Given the description of an element on the screen output the (x, y) to click on. 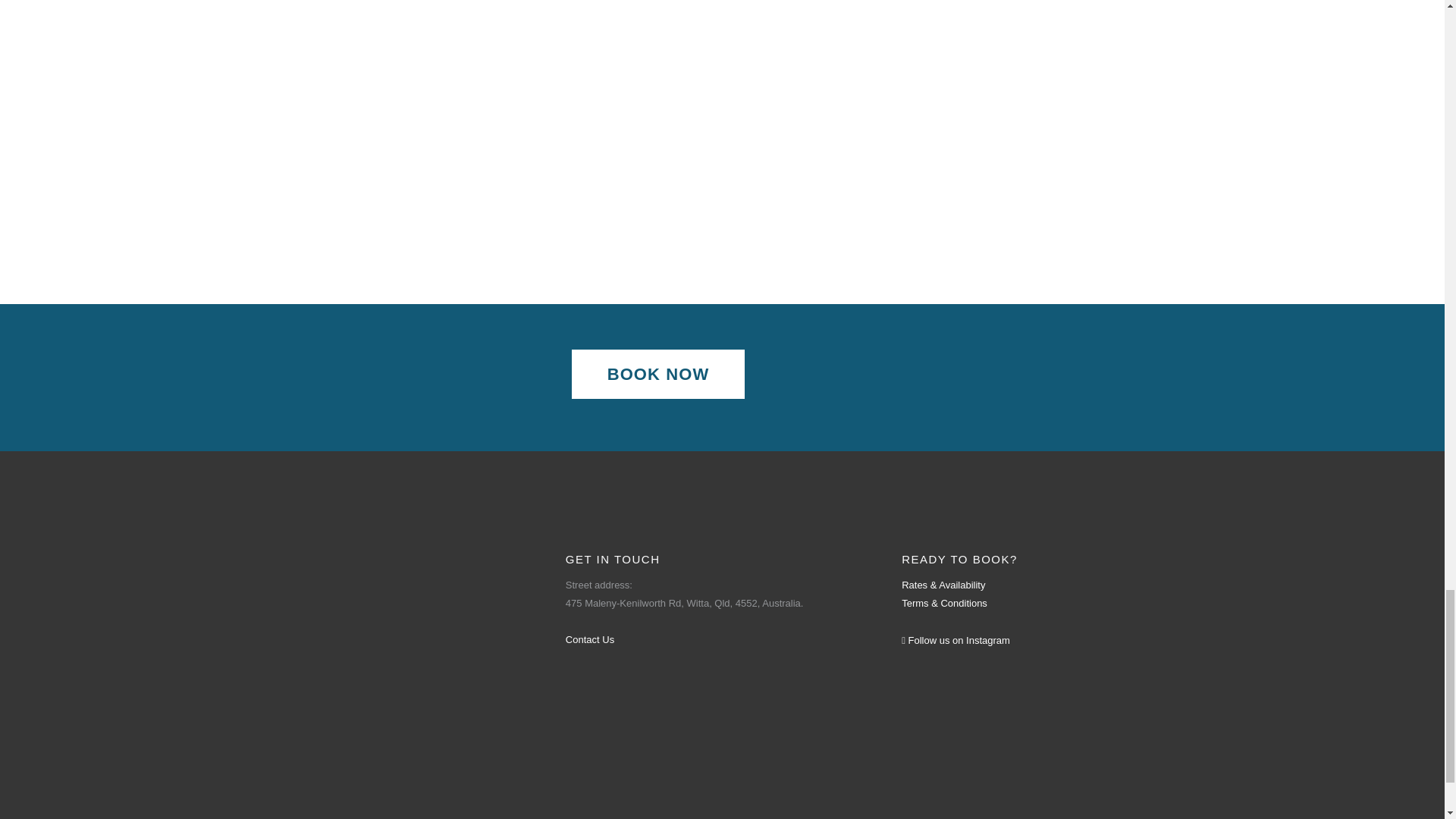
Contact Us (590, 639)
Follow us on Instagram (955, 640)
BOOK NOW (658, 373)
